Given the description of an element on the screen output the (x, y) to click on. 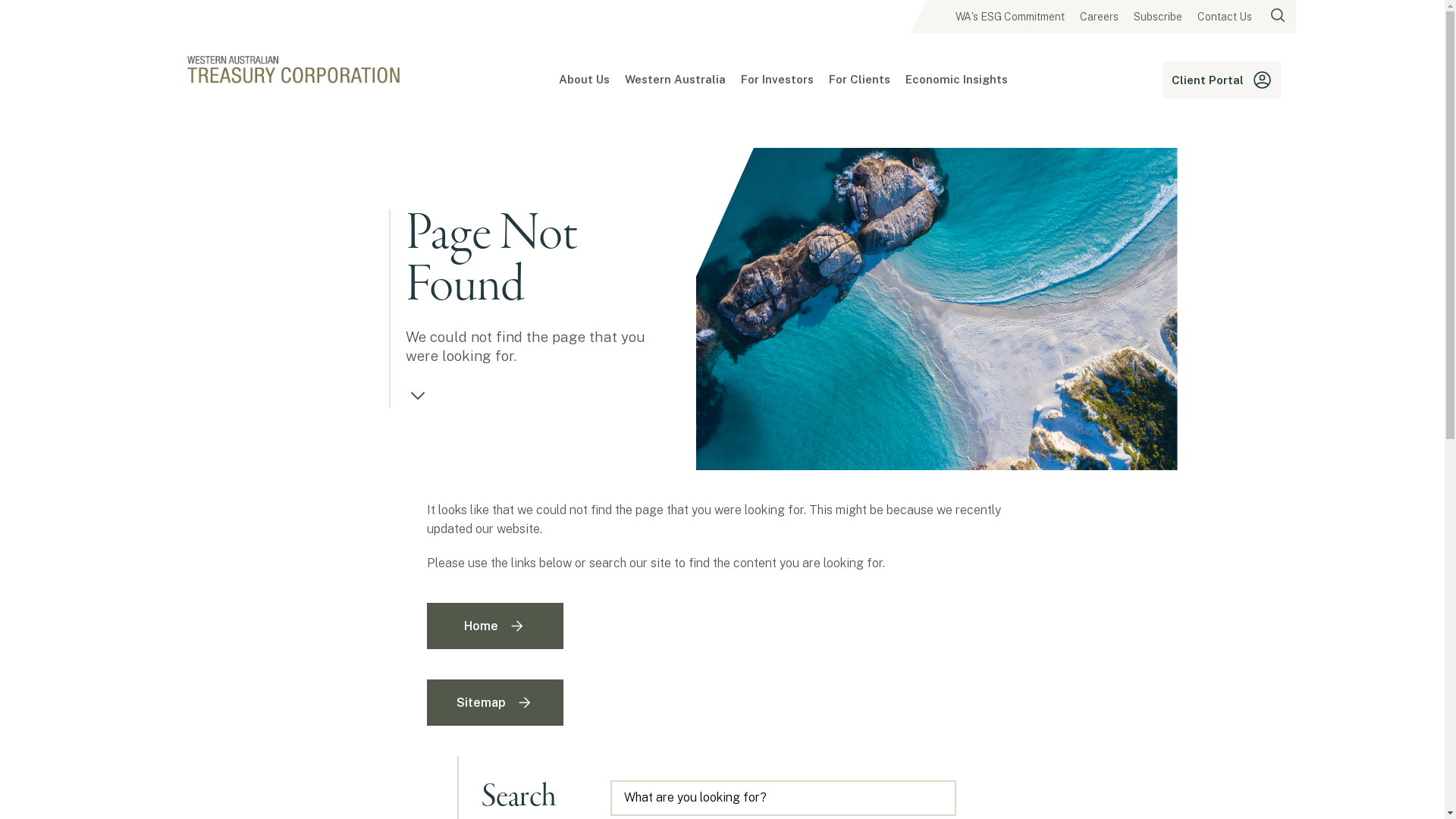
Sitemap Element type: text (494, 702)
Careers Element type: text (1099, 16)
Client Portal Element type: text (1220, 79)
Contact Us Element type: text (1223, 16)
Search Element type: text (955, 779)
WA's ESG Commitment Element type: text (1009, 16)
Western Australian Treasury Corporation Element type: text (292, 71)
Subscribe Element type: text (1157, 16)
Home Element type: text (494, 625)
